Given the description of an element on the screen output the (x, y) to click on. 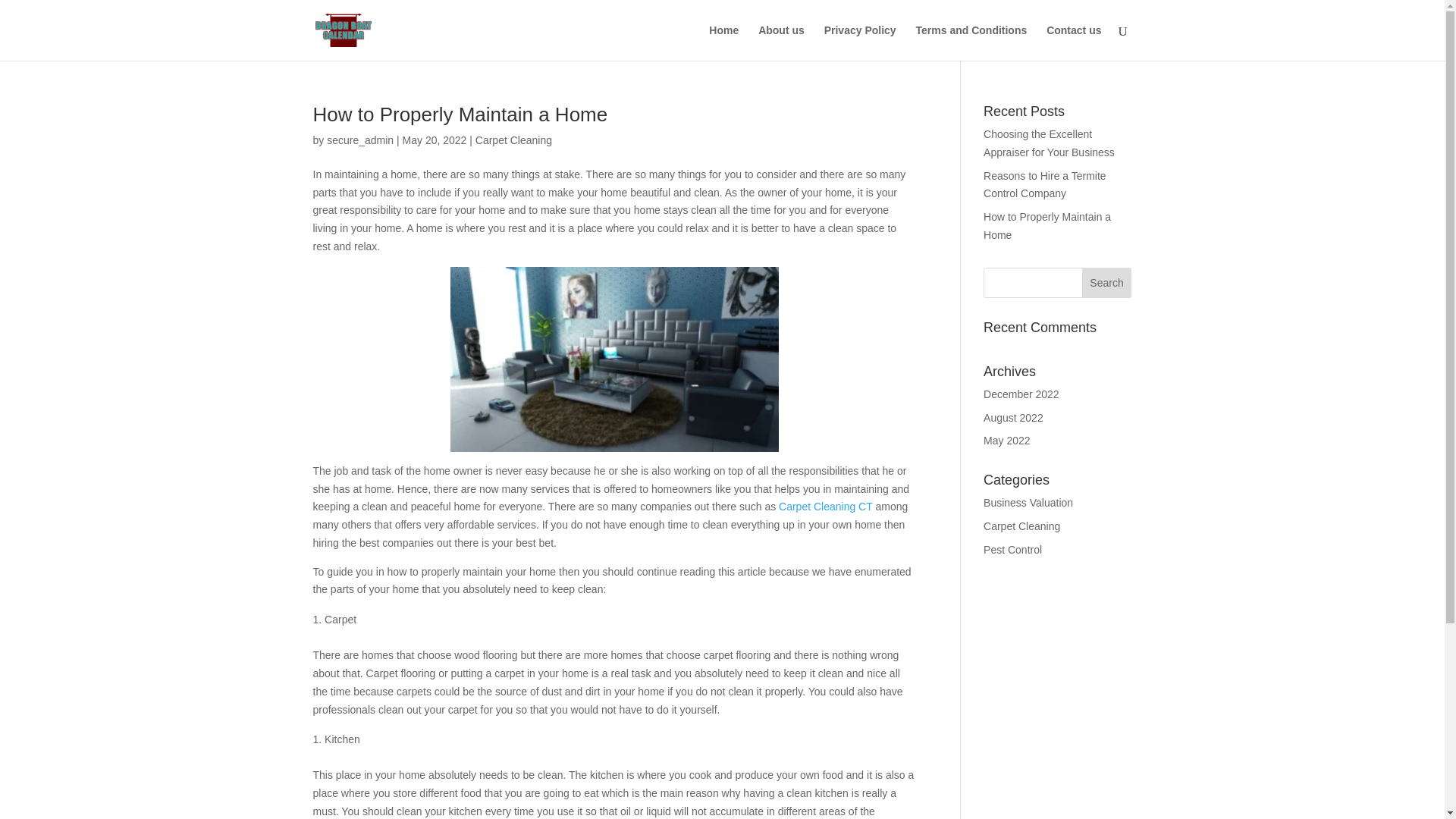
Search (1106, 282)
Contact us (1073, 42)
How to Properly Maintain a Home  (462, 114)
Pest Control (1013, 549)
How to Properly Maintain a Home  (1047, 225)
Business Valuation (1028, 502)
Carpet Cleaning CT (825, 506)
Carpet Cleaning (1021, 526)
About us (781, 42)
December 2022 (1021, 394)
